Given the description of an element on the screen output the (x, y) to click on. 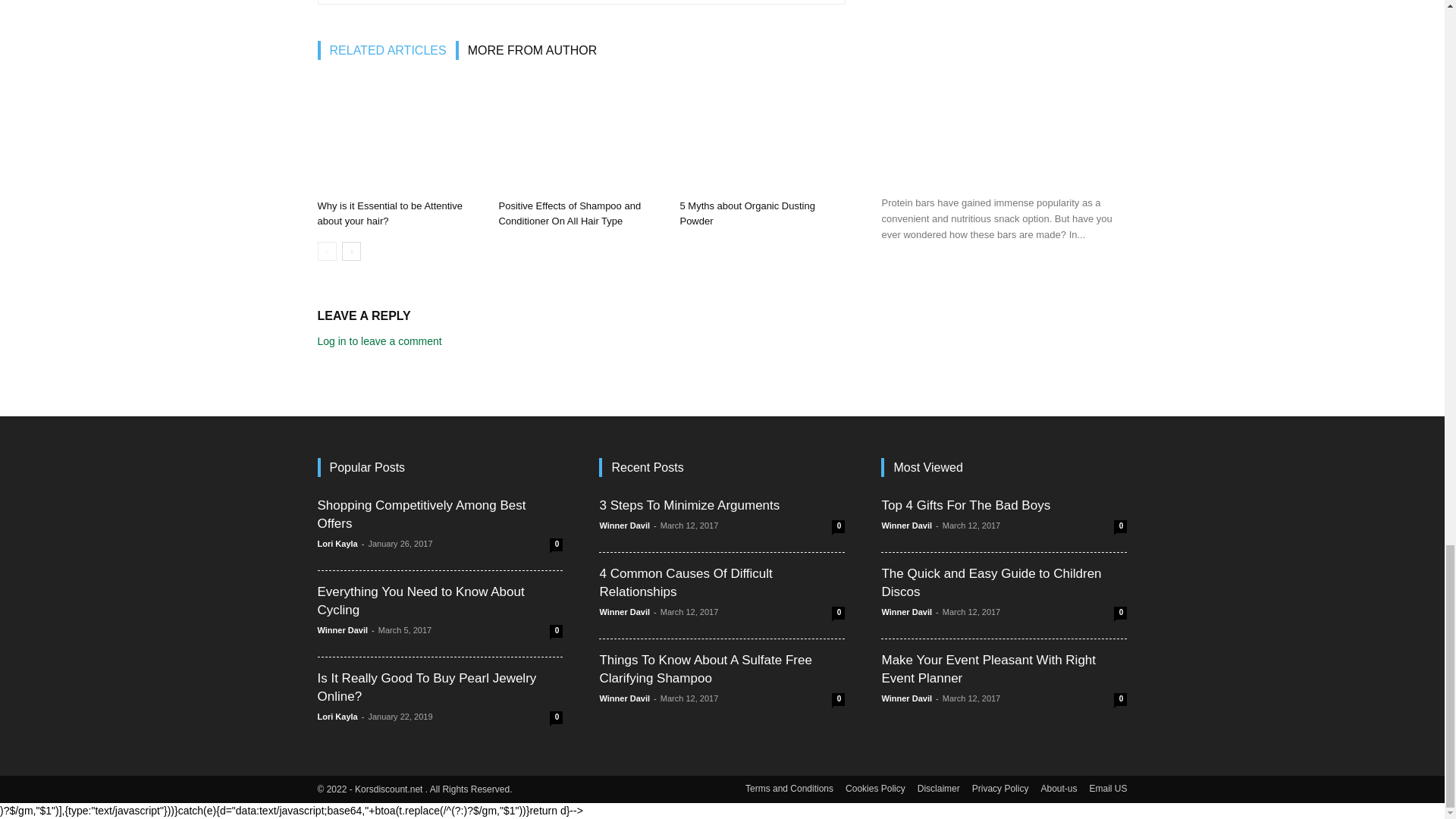
Positive Effects of Shampoo and Conditioner On All Hair Type (580, 136)
5 Myths about Organic Dusting Powder (761, 136)
5 Myths about Organic Dusting Powder (746, 212)
Positive Effects of Shampoo and Conditioner On All Hair Type (568, 212)
Why is it Essential to be Attentive about your hair? (389, 212)
Why is it Essential to be Attentive about your hair? (399, 136)
